Given the description of an element on the screen output the (x, y) to click on. 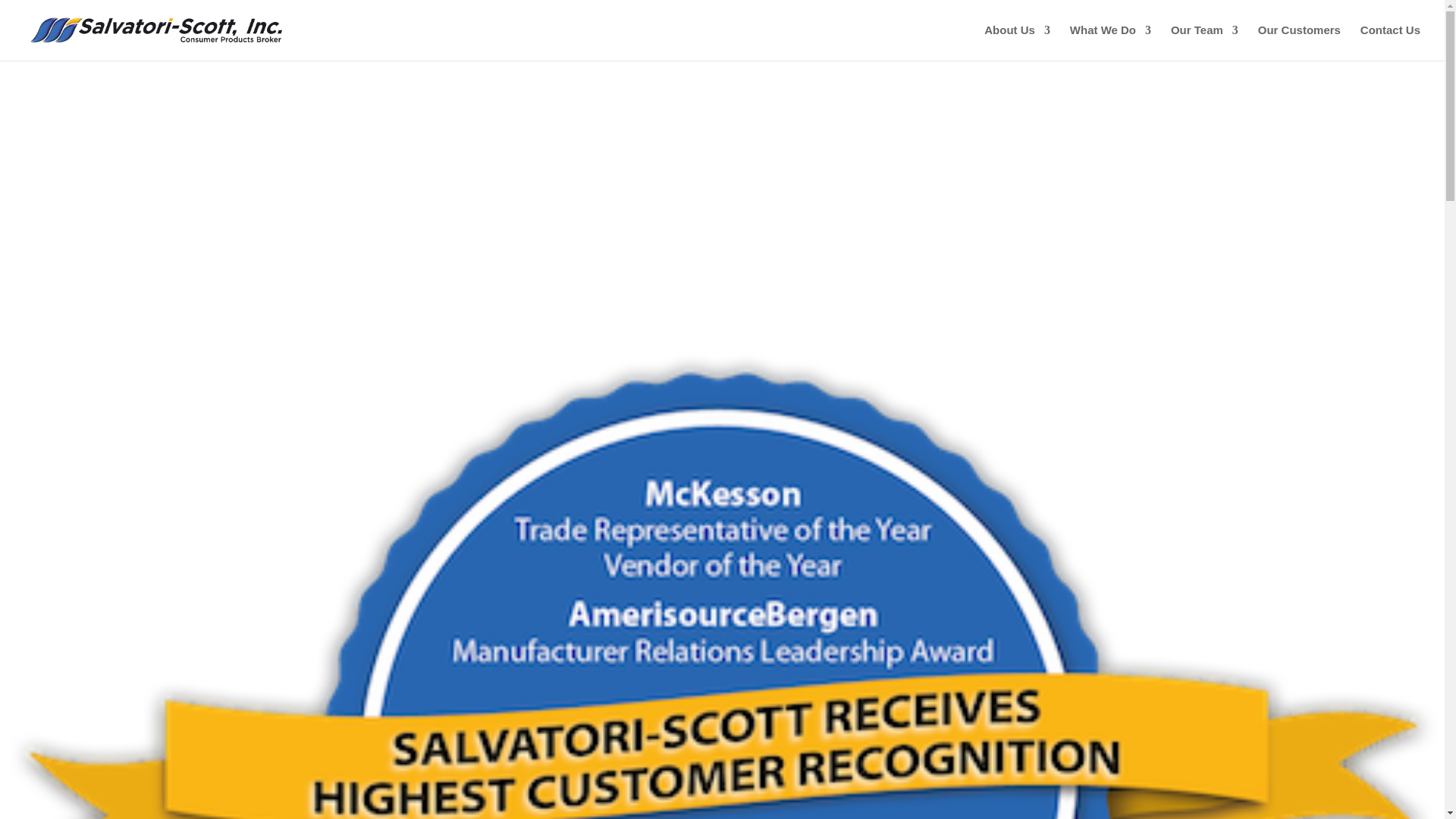
Our Customers (1298, 42)
Services (1110, 42)
Contact Us (1390, 42)
Our Team (1204, 42)
About Us (1016, 42)
What We Do (1110, 42)
